Given the description of an element on the screen output the (x, y) to click on. 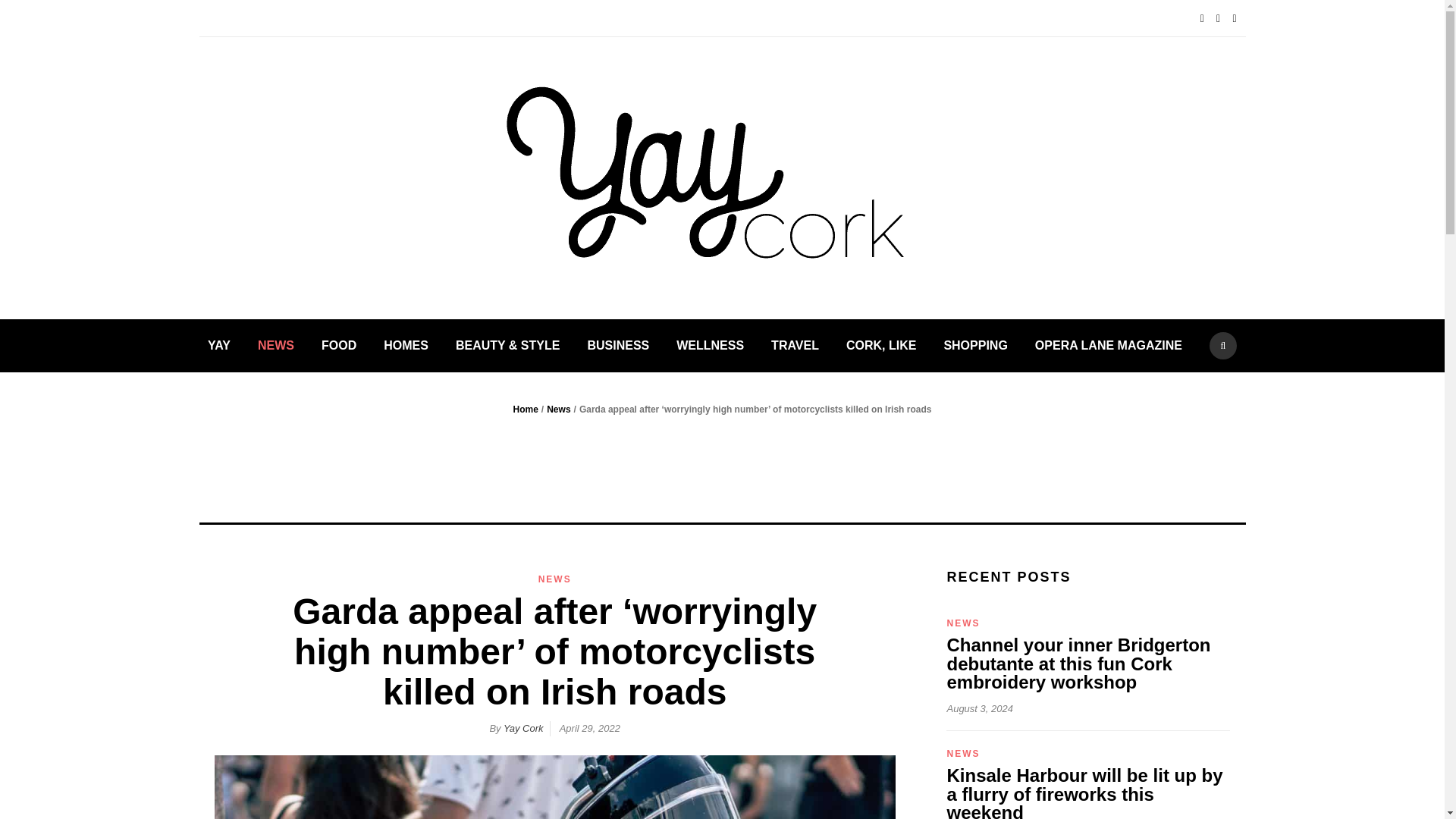
SHOPPING (975, 345)
NEWS (555, 579)
BUSINESS (617, 345)
News (558, 409)
CORK, LIKE (880, 345)
Home (525, 409)
OPERA LANE MAGAZINE (1108, 345)
WELLNESS (710, 345)
View all posts by Yay Cork (523, 727)
TRAVEL (794, 345)
